Given the description of an element on the screen output the (x, y) to click on. 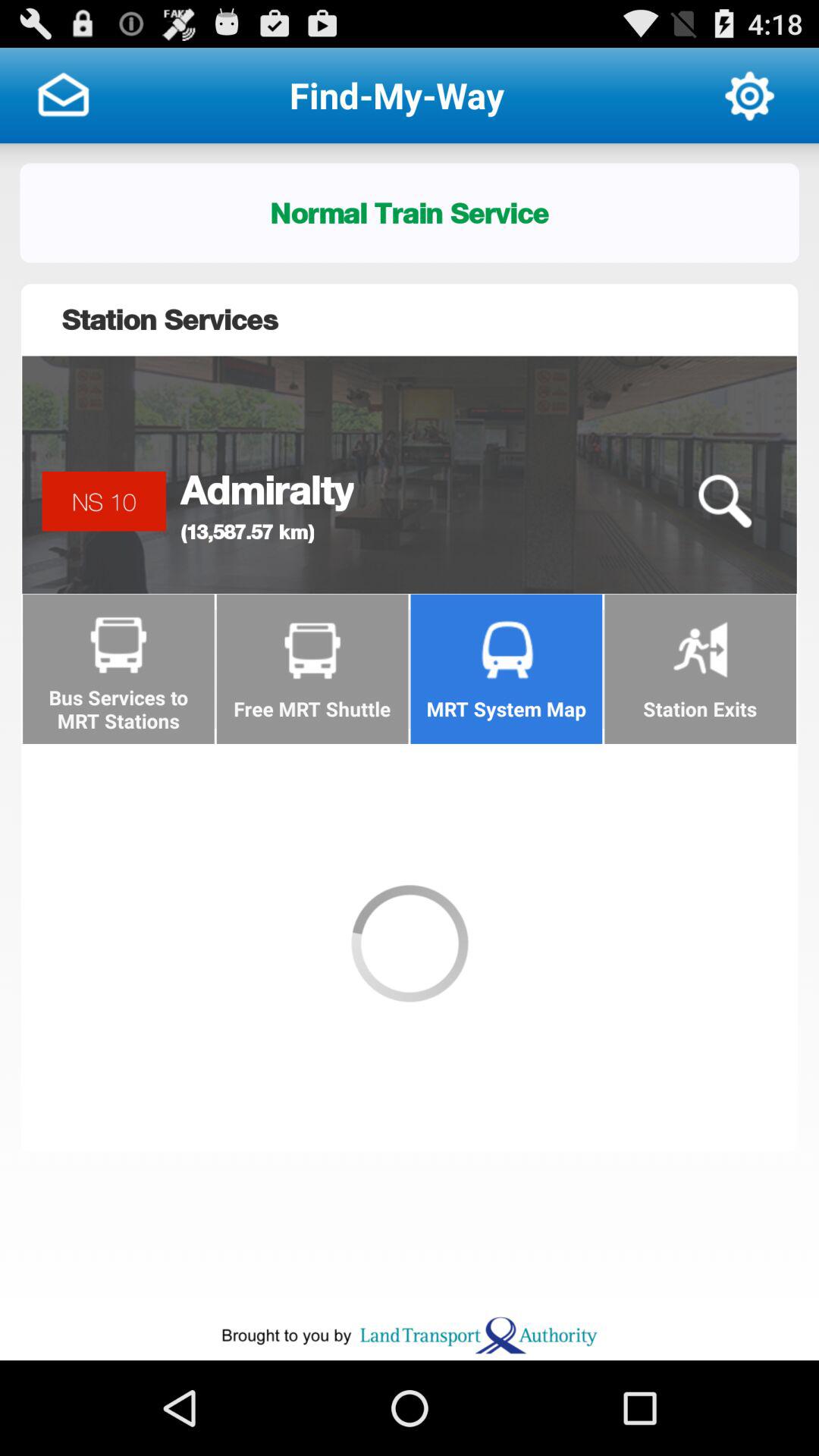
select icon below station services icon (724, 501)
